Given the description of an element on the screen output the (x, y) to click on. 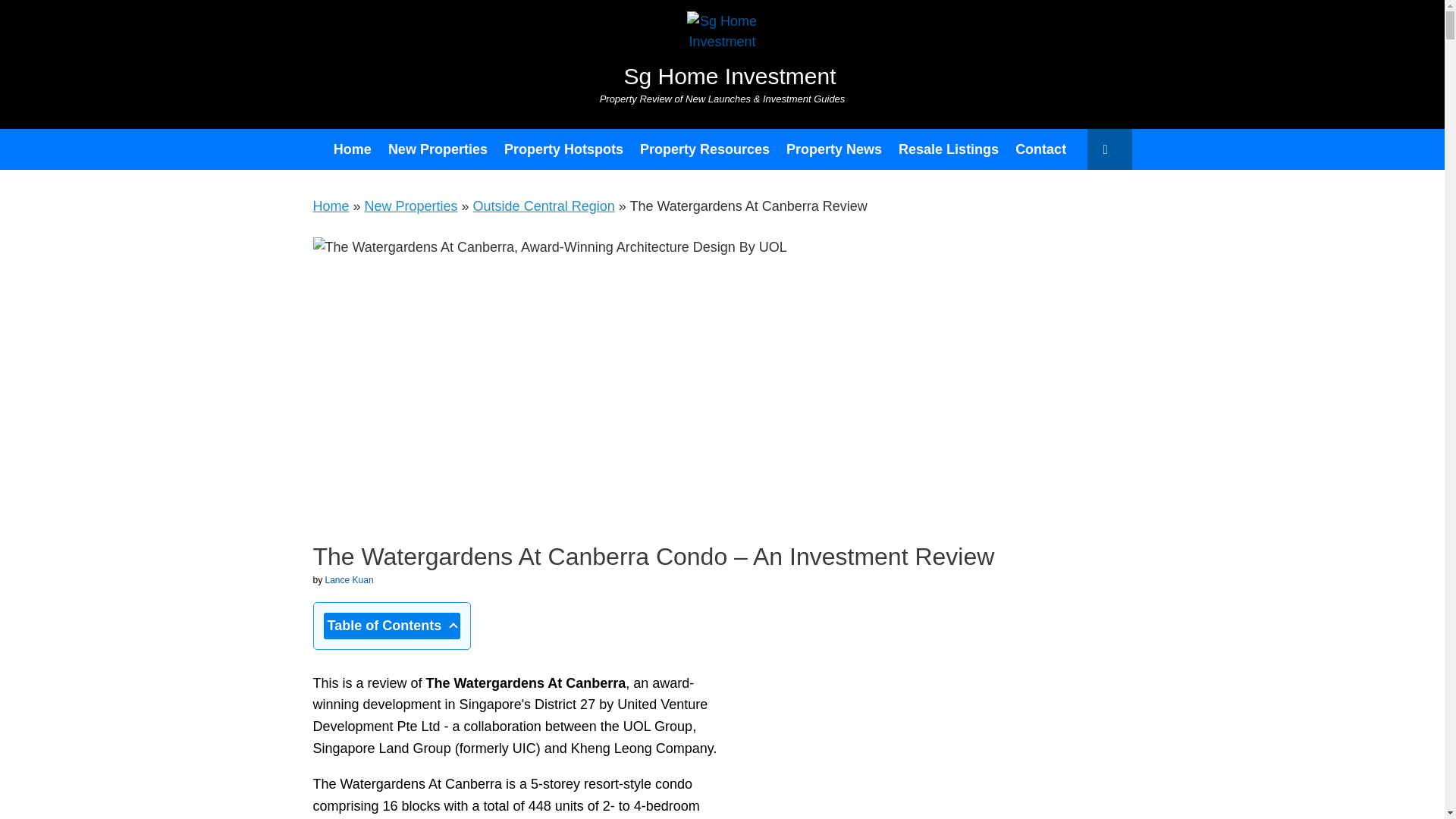
Property Hotspots (563, 148)
Sg Home Investment (722, 49)
New Properties (438, 148)
Sg Home Investment (722, 49)
Home (352, 148)
View all posts by Lance Kuan (349, 579)
